Given the description of an element on the screen output the (x, y) to click on. 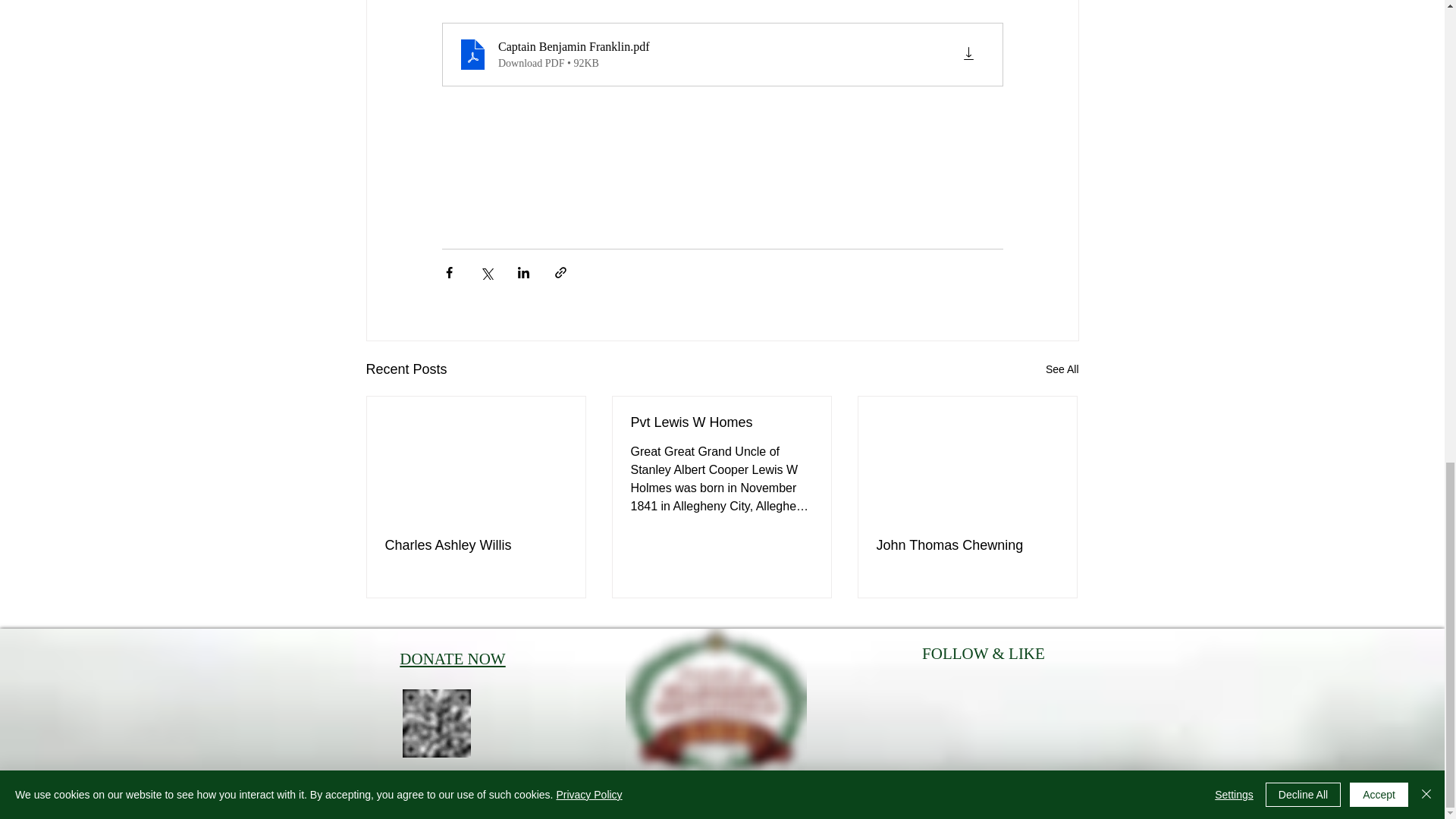
Pvt Lewis W Homes (721, 422)
See All (1061, 369)
Privacy (436, 795)
John Thomas Chewning (967, 545)
Terms  (398, 795)
DONATE NOW (451, 659)
Charles Ashley Willis (476, 545)
